Given the description of an element on the screen output the (x, y) to click on. 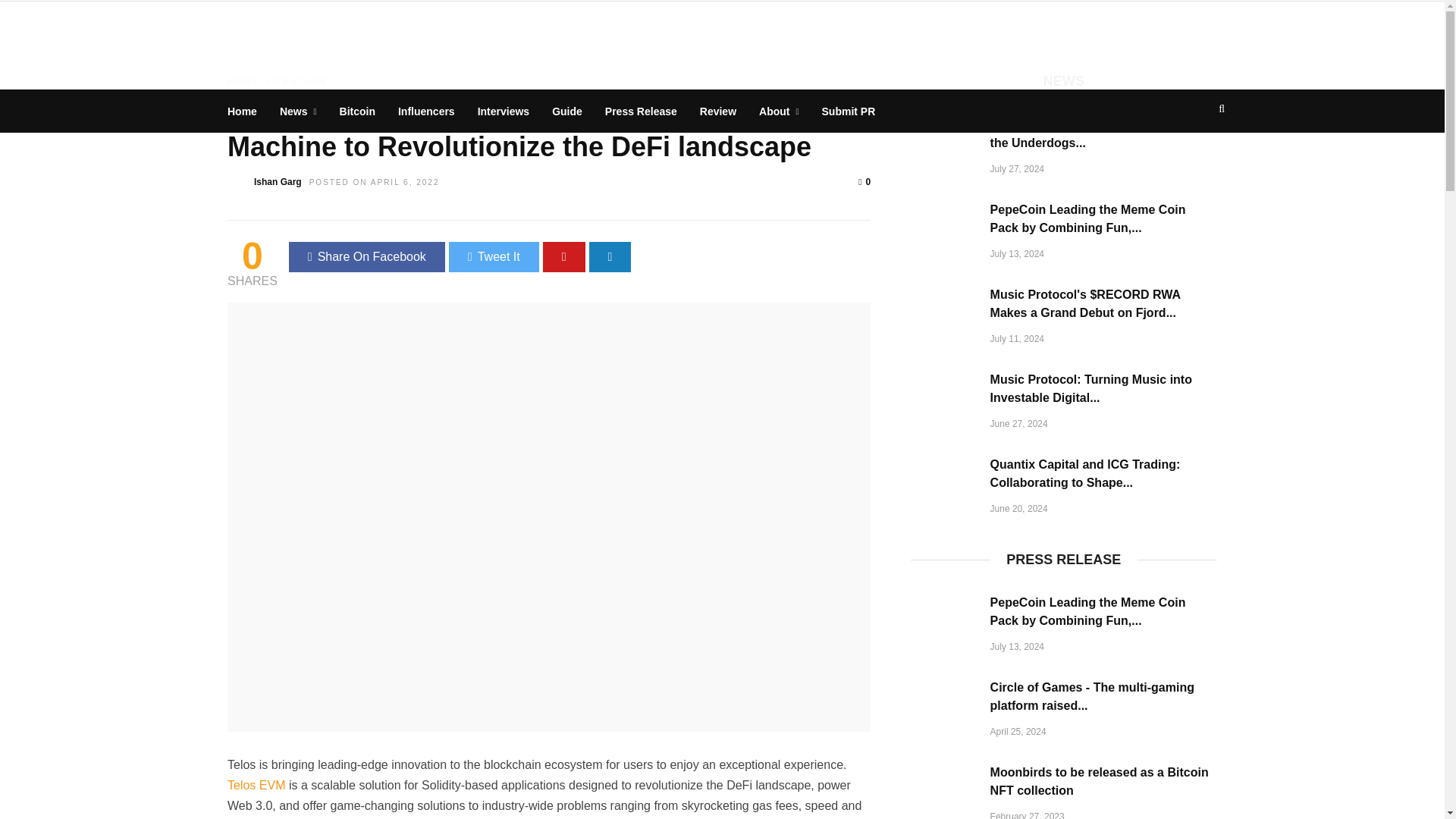
Press Release (641, 110)
Share On Twitter (493, 256)
Interviews (502, 110)
Review (718, 110)
Guide (567, 110)
Share On Pinterest (564, 256)
Influencers (426, 110)
Share On Facebook (366, 256)
Bitcoin (358, 110)
Share by Email (610, 256)
